Given the description of an element on the screen output the (x, y) to click on. 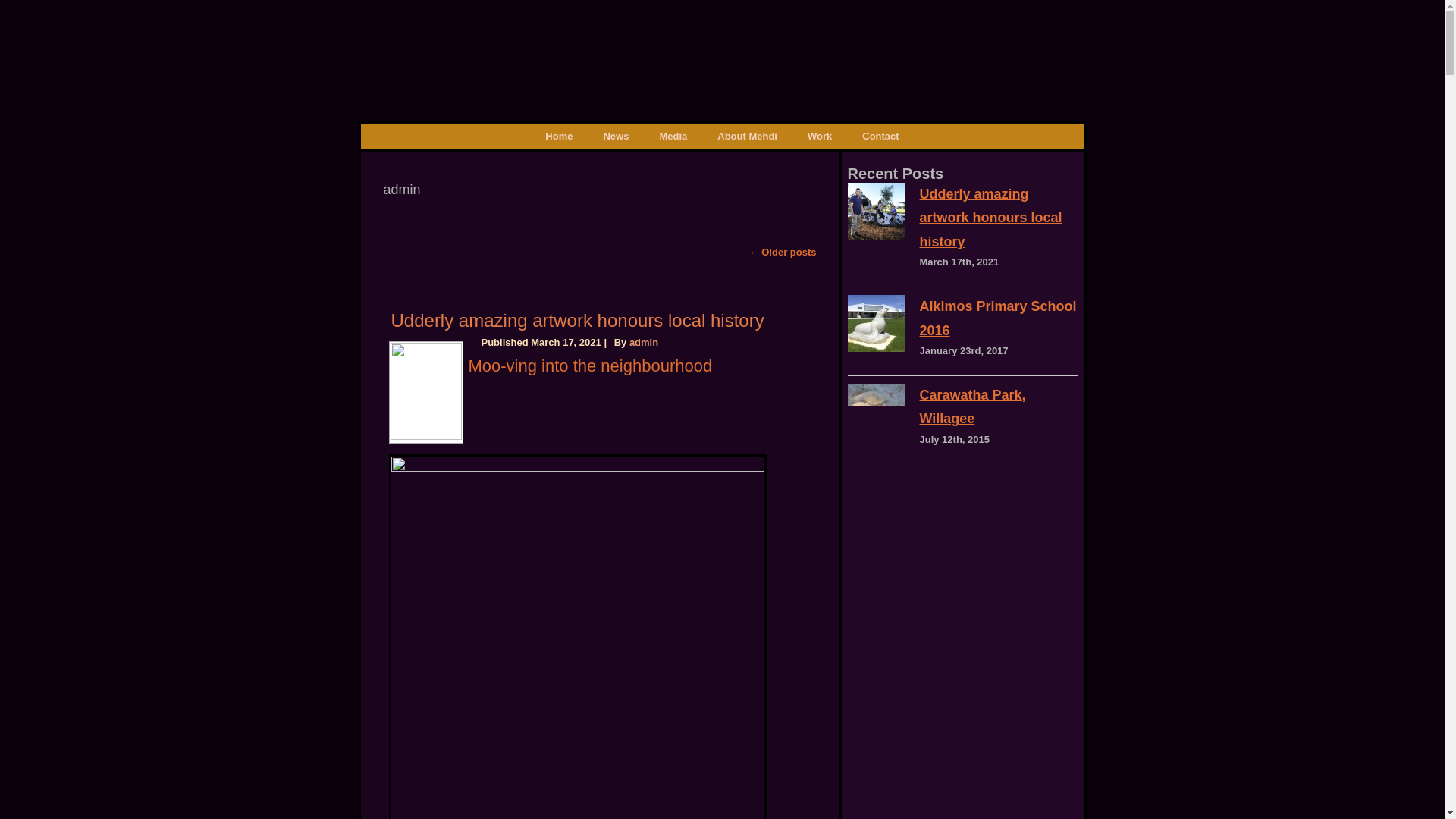
Media (672, 136)
News (615, 136)
Home (558, 136)
Work (819, 136)
Work (819, 136)
News (615, 136)
admin (643, 342)
Media (672, 136)
Udderly amazing artwork honours local history (577, 320)
About Mehdi (746, 136)
